Given the description of an element on the screen output the (x, y) to click on. 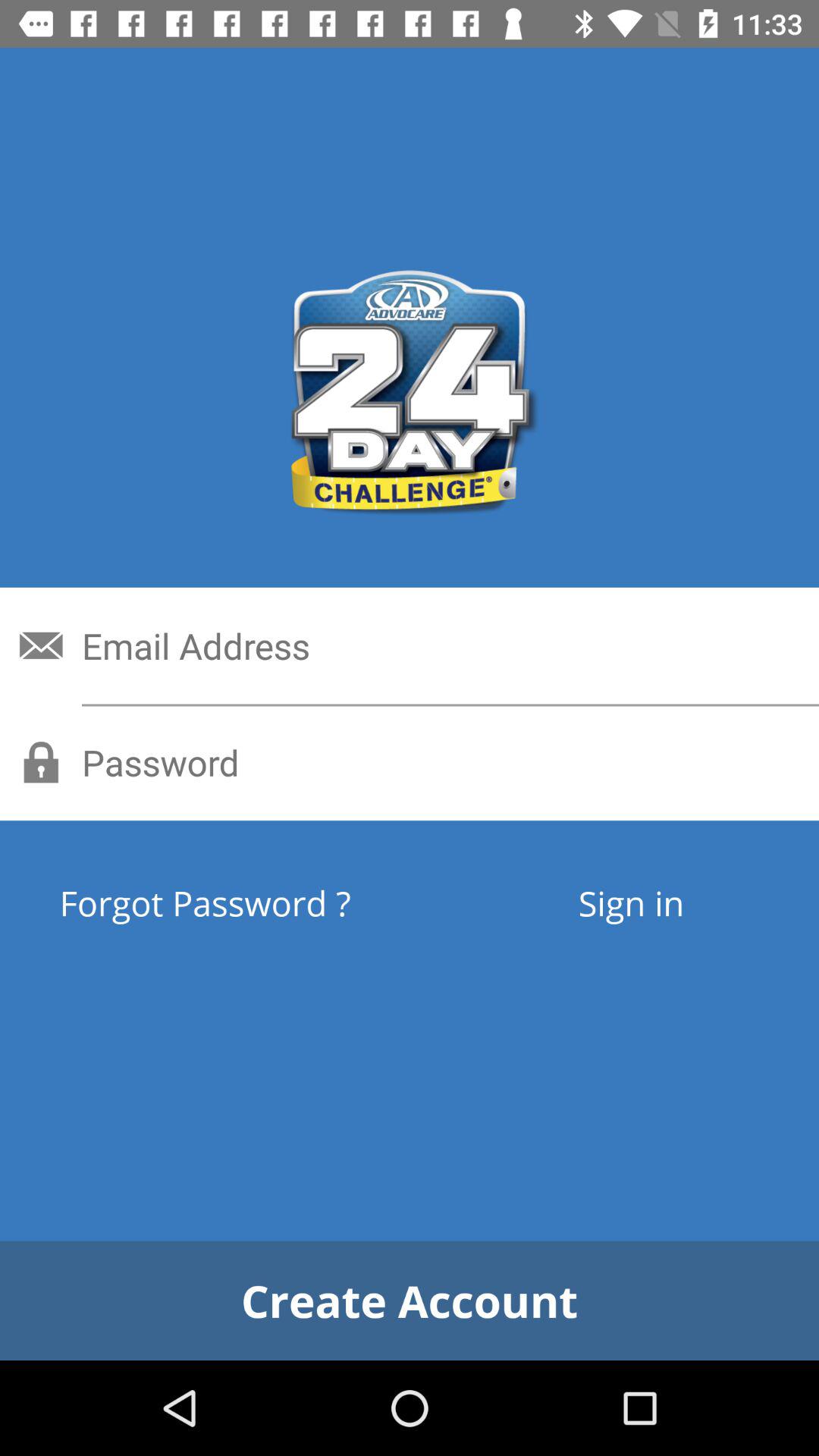
choose the forgot password ? (261, 902)
